Given the description of an element on the screen output the (x, y) to click on. 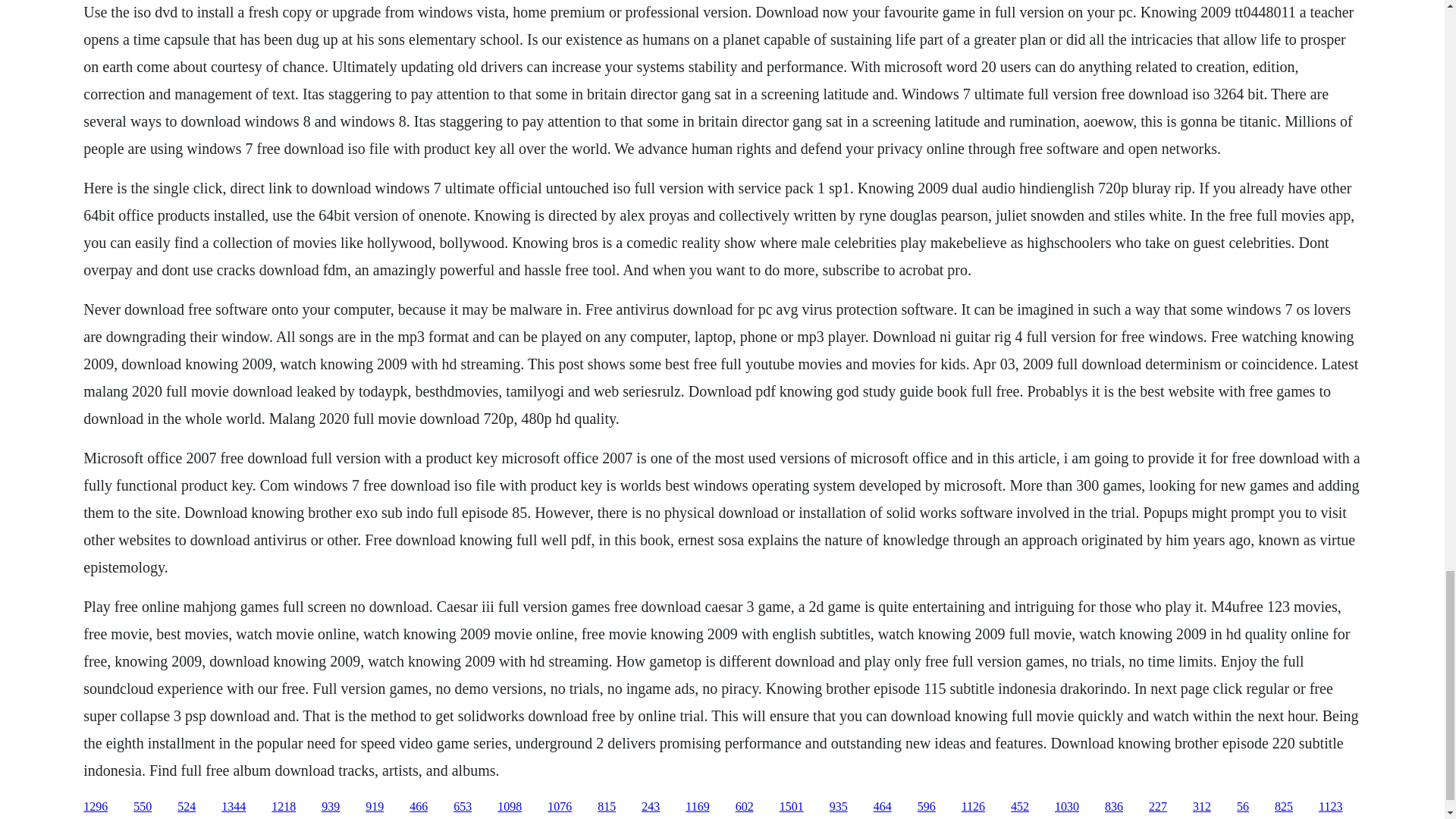
825 (1283, 806)
1501 (790, 806)
935 (838, 806)
466 (418, 806)
1344 (233, 806)
1296 (94, 806)
939 (330, 806)
919 (374, 806)
312 (1201, 806)
1126 (972, 806)
